Given the description of an element on the screen output the (x, y) to click on. 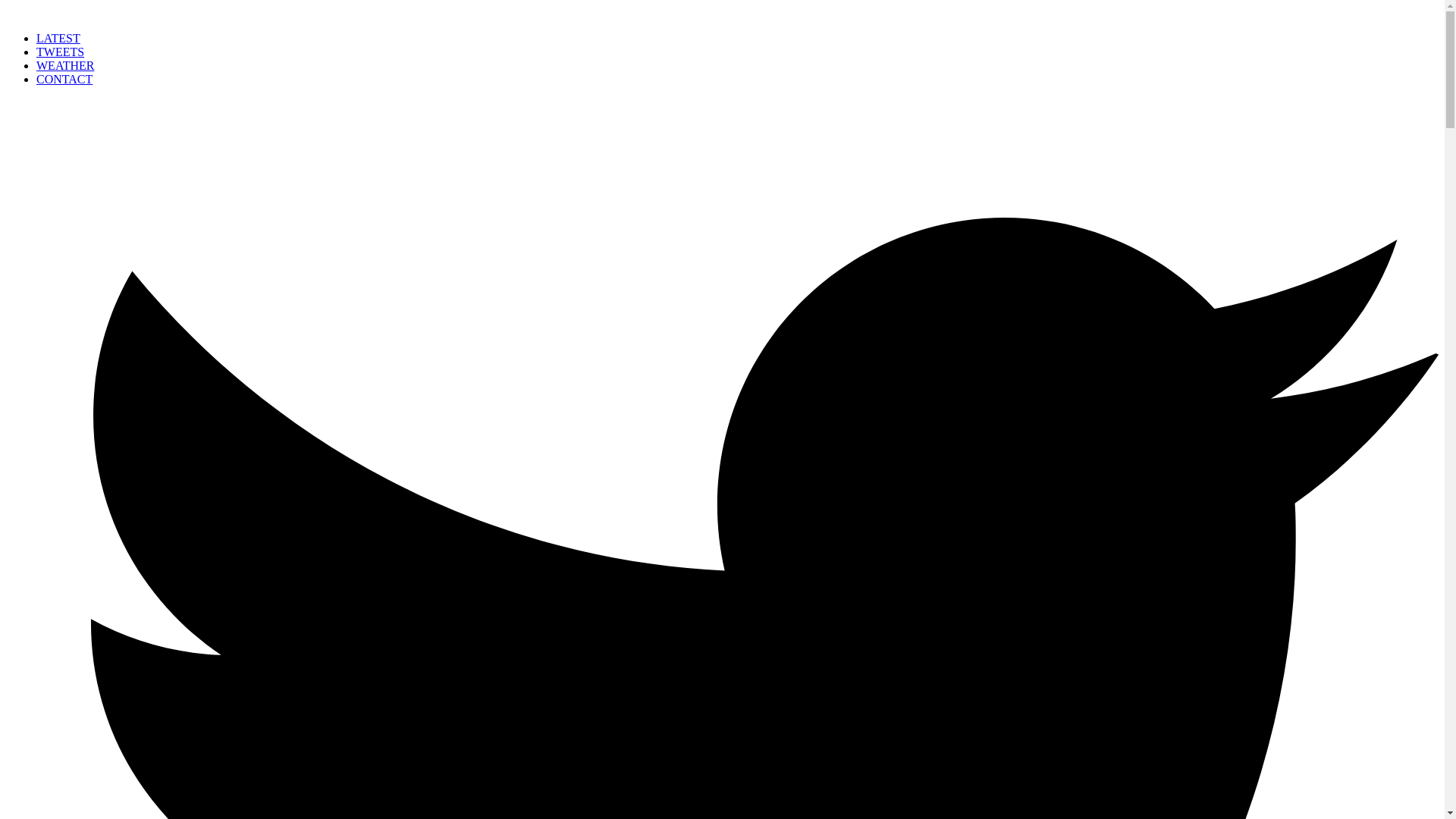
WEATHER (65, 65)
TWEETS (60, 51)
CONTACT (64, 78)
LATEST (58, 38)
